Given the description of an element on the screen output the (x, y) to click on. 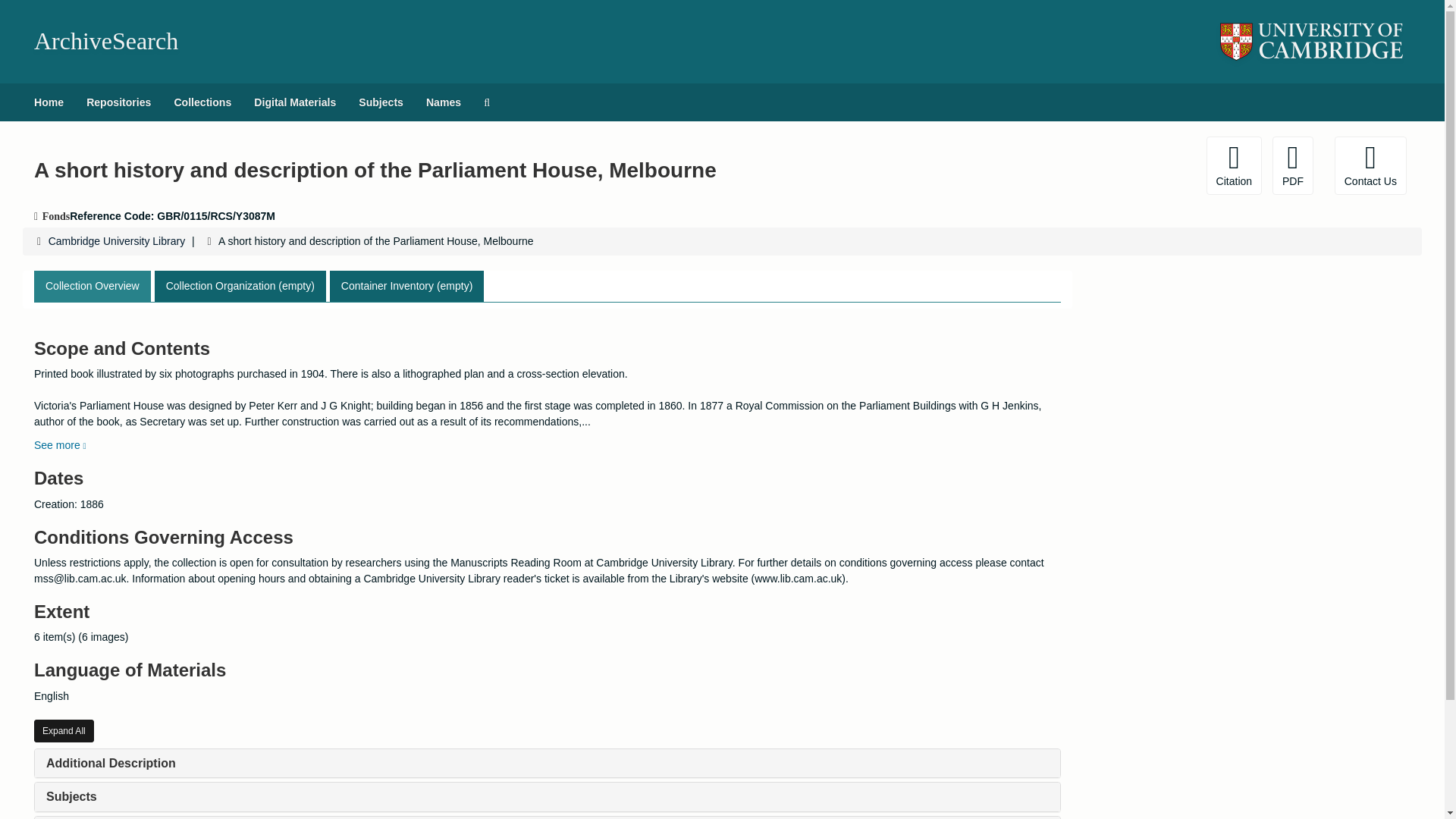
Cambridge University Library (117, 241)
Return to the ArchiveSearch homepage (105, 40)
Digital Materials (295, 102)
Collection Overview (92, 286)
Repositories (118, 102)
ArchiveSearch (105, 40)
Expand All (63, 730)
Contact Us (1370, 165)
Additional Description (111, 762)
Home (49, 102)
See more (59, 444)
Subjects (380, 102)
Citation (1234, 165)
Subjects (71, 796)
Page Actions (1130, 165)
